Given the description of an element on the screen output the (x, y) to click on. 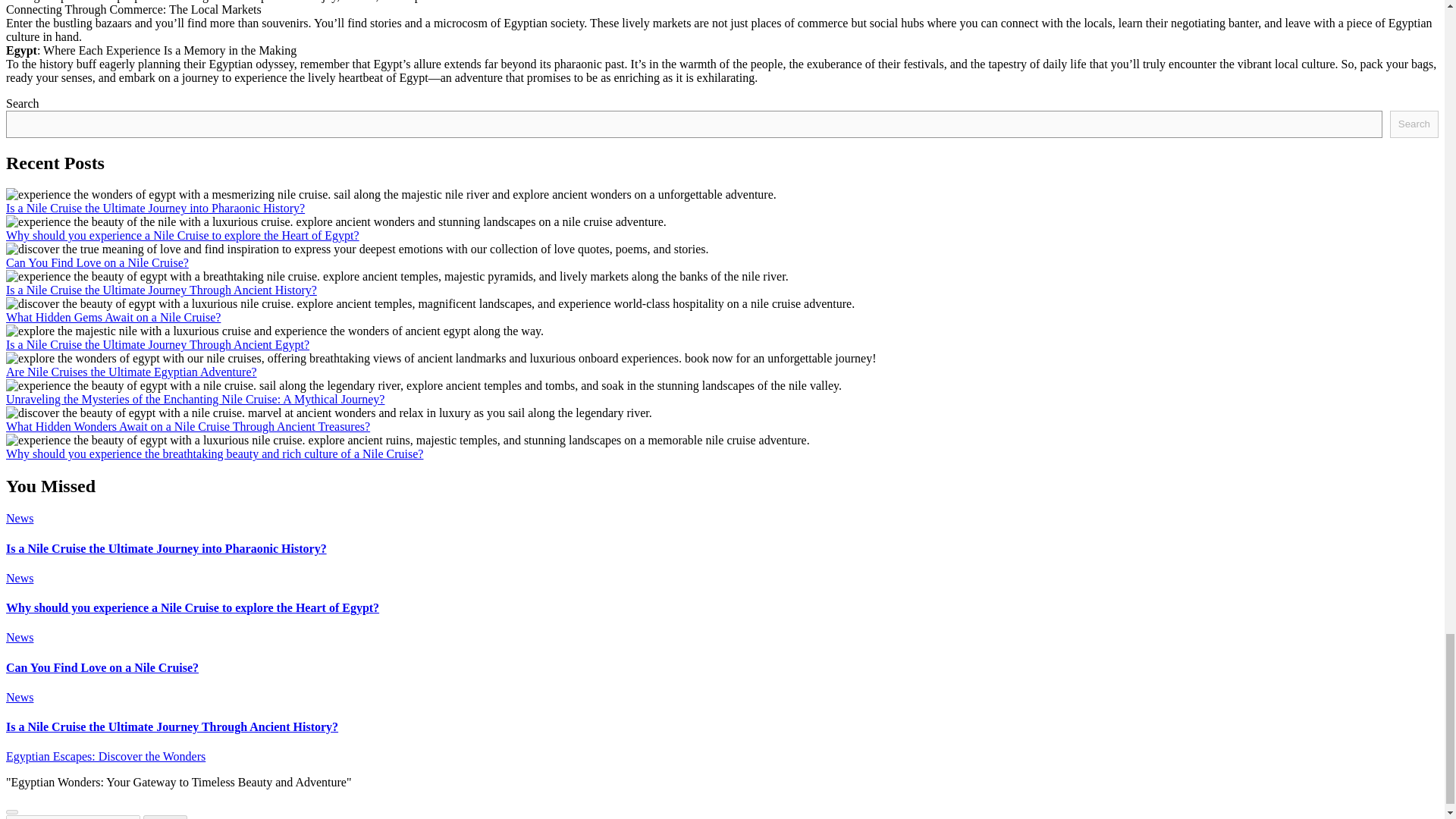
Is a Nile Cruise the Ultimate Journey Through Ancient Egypt? (156, 344)
Can You Find Love on a Nile Cruise? (97, 262)
Are Nile Cruises the Ultimate Egyptian Adventure? (131, 371)
What Hidden Gems Await on a Nile Cruise? (113, 317)
